Given the description of an element on the screen output the (x, y) to click on. 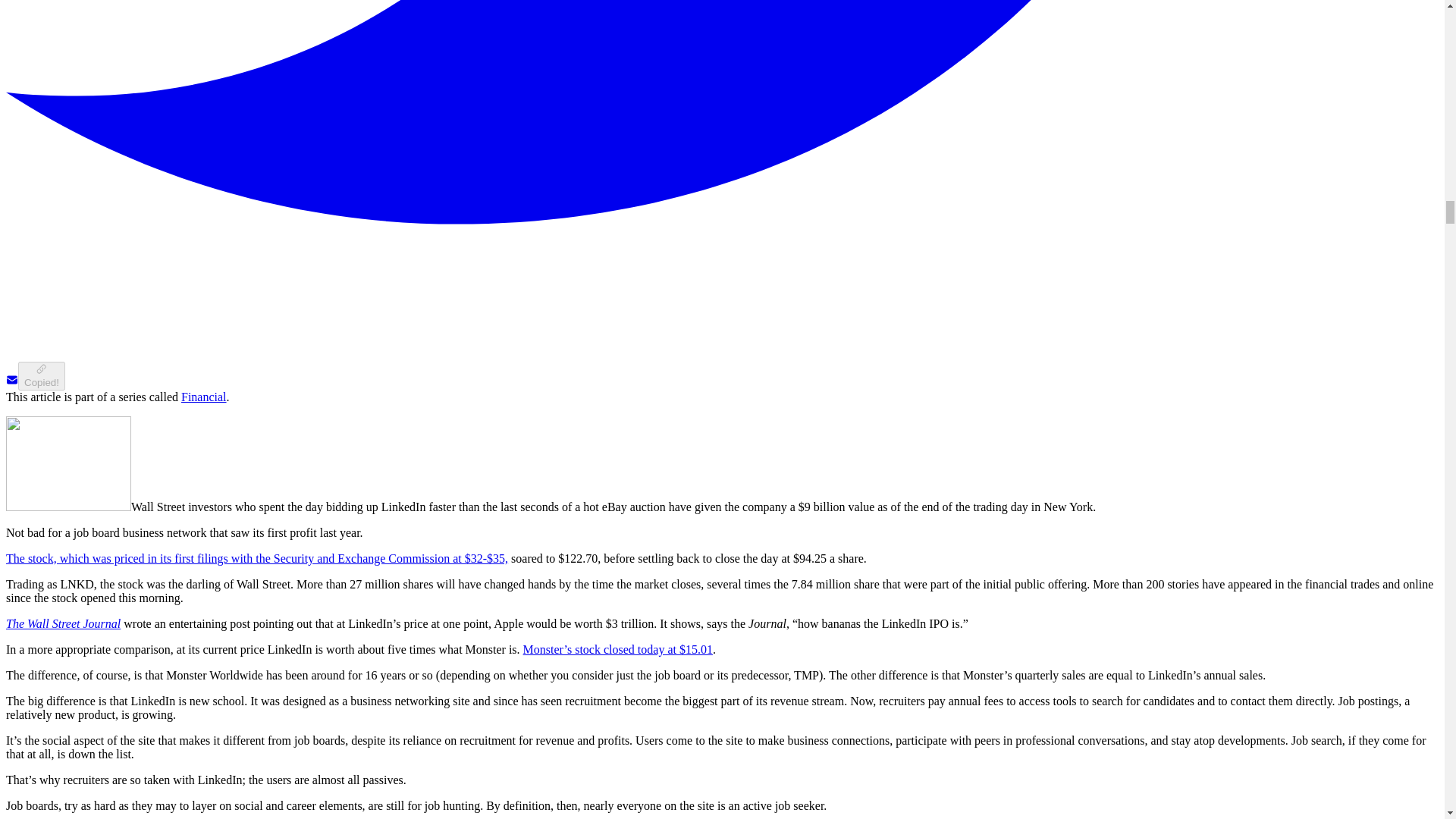
linkedin (68, 463)
The Wall Street Journal (62, 623)
Copied! (41, 375)
Financial (203, 396)
